Given the description of an element on the screen output the (x, y) to click on. 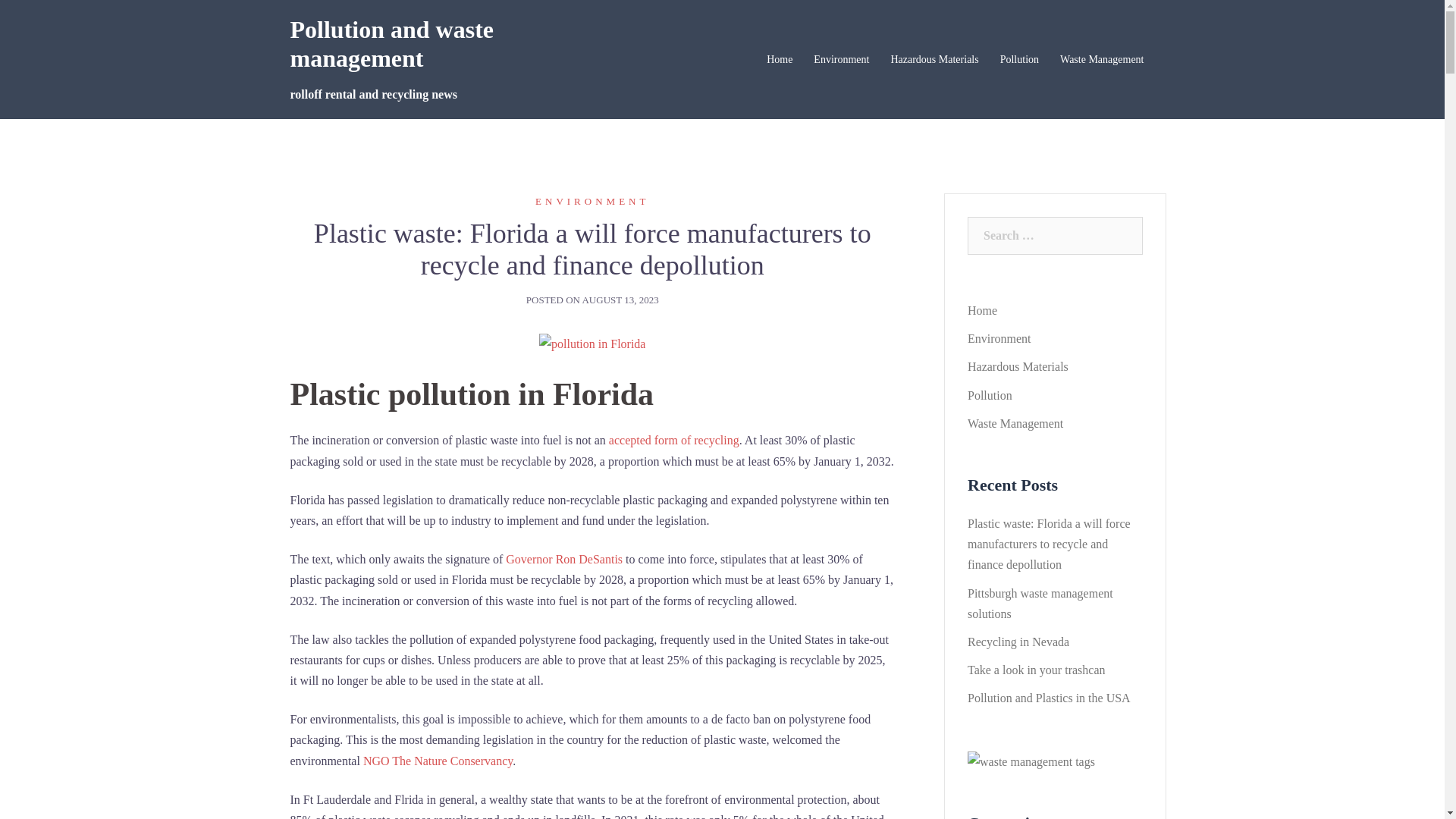
Search Element type: text (47, 18)
ENVIRONMENT Element type: text (592, 201)
Pollution and Plastics in the USA Element type: text (1048, 697)
Recycling in Nevada Element type: text (1018, 641)
Pittsburgh waste management solutions Element type: text (1040, 603)
Home Element type: text (779, 59)
Governor Ron DeSantis Element type: text (563, 558)
Pollution Element type: text (989, 395)
Pollution and waste management Element type: text (390, 43)
Home Element type: text (982, 310)
Pollution Element type: text (1019, 59)
Waste Management Element type: text (1101, 59)
Take a look in your trashcan Element type: text (1035, 669)
Environment Element type: text (999, 338)
Waste Management Element type: text (1015, 423)
Hazardous Materials Element type: text (934, 59)
AUGUST 13, 2023 Element type: text (619, 299)
accepted form of recycling Element type: text (673, 439)
Environment Element type: text (841, 59)
Hazardous Materials Element type: text (1017, 366)
NGO The Nature Conservancy Element type: text (437, 760)
